Given the description of an element on the screen output the (x, y) to click on. 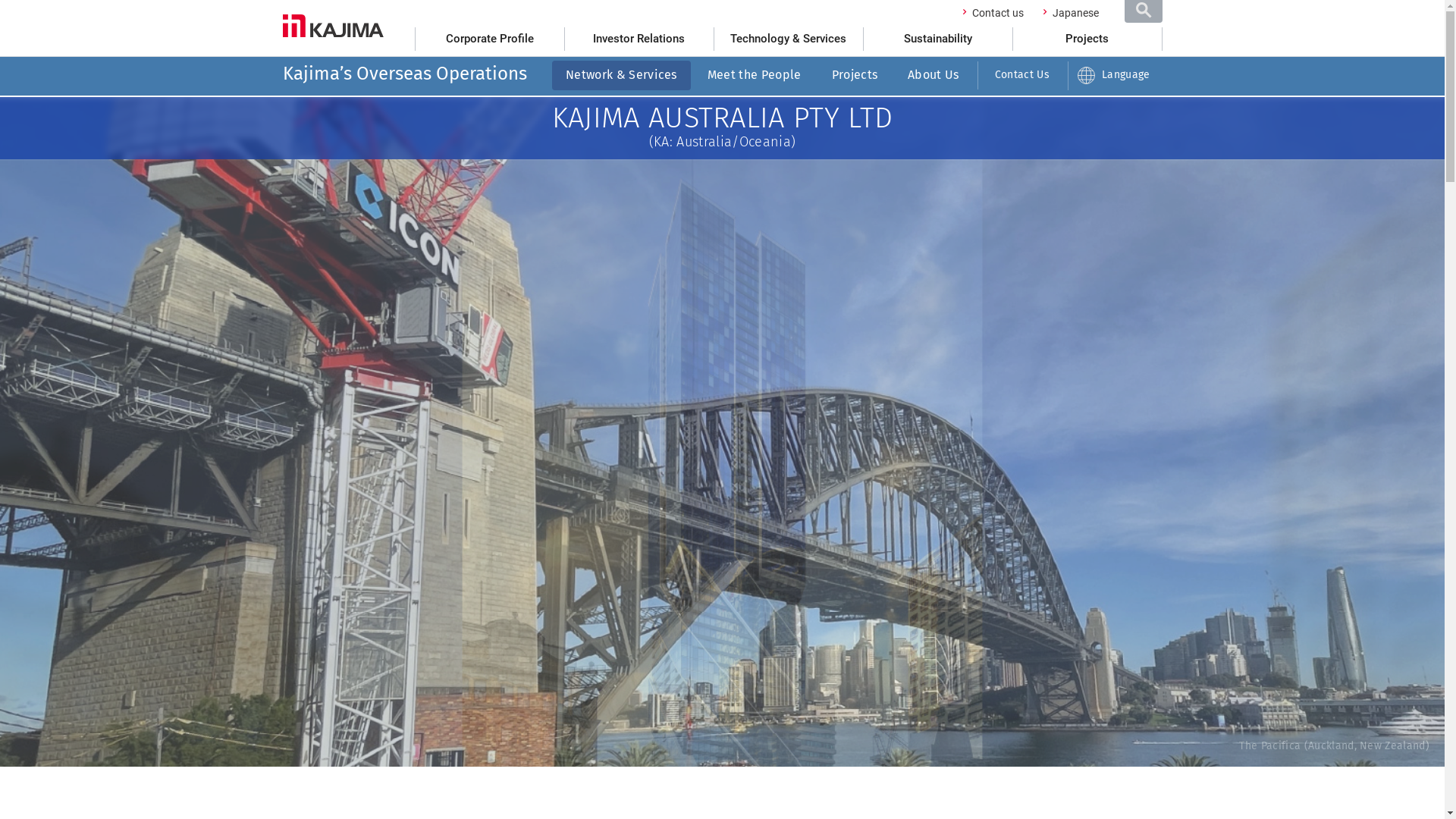
Japanese Element type: text (1075, 12)
Corporate Profile Element type: text (489, 38)
Investor Relations Element type: text (638, 38)
Meet the People Element type: text (754, 75)
Contact us Element type: text (997, 12)
Projects Element type: text (1087, 38)
Language Element type: text (1116, 74)
Projects Element type: text (854, 75)
Network & Services Element type: text (621, 75)
About Us Element type: text (933, 75)
Contact Us Element type: text (1022, 75)
Sustainability Element type: text (937, 38)
Technology & Services Element type: text (788, 38)
